Given the description of an element on the screen output the (x, y) to click on. 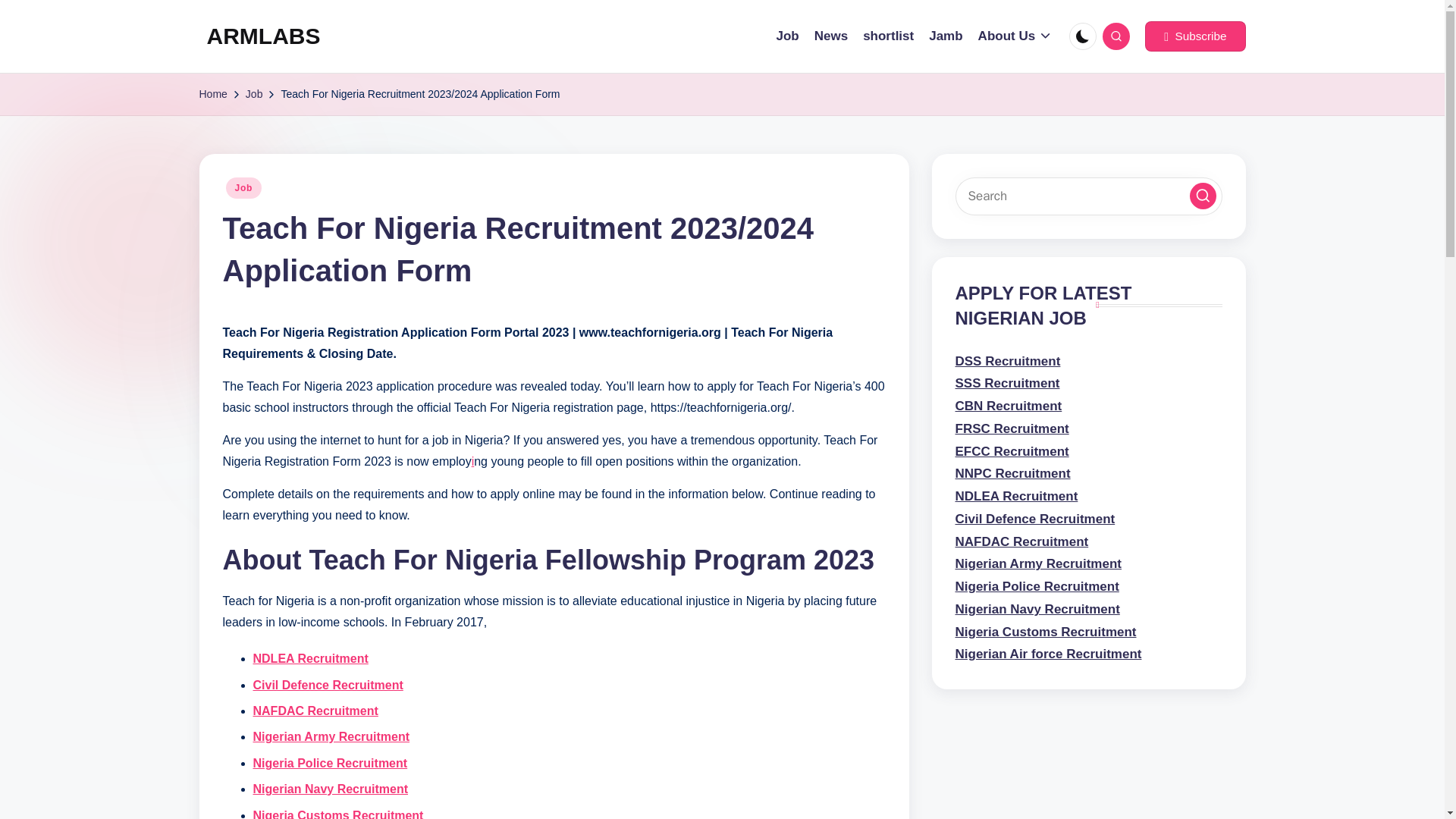
CBN Recruitment (1008, 405)
Nigerian Navy Recruitment (331, 788)
Civil Defence Recruitment (328, 684)
News (830, 36)
Jamb (945, 36)
EFCC Recruitment (1011, 451)
About Us (1015, 36)
Subscribe (1194, 36)
Nigerian Army Recruitment (331, 736)
DSS Recruitment (1008, 360)
